Given the description of an element on the screen output the (x, y) to click on. 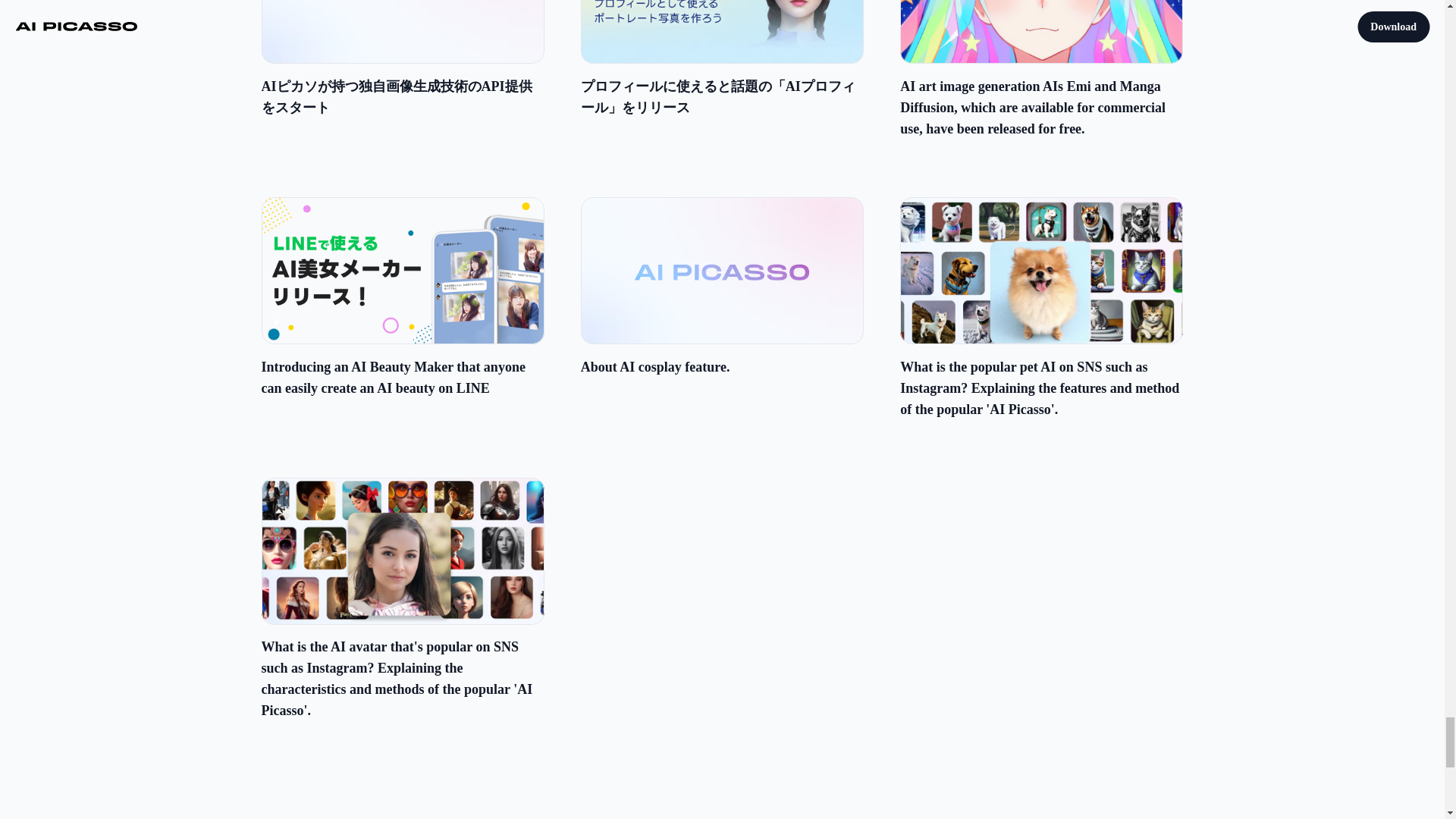
About AI cosplay feature. (721, 287)
